Given the description of an element on the screen output the (x, y) to click on. 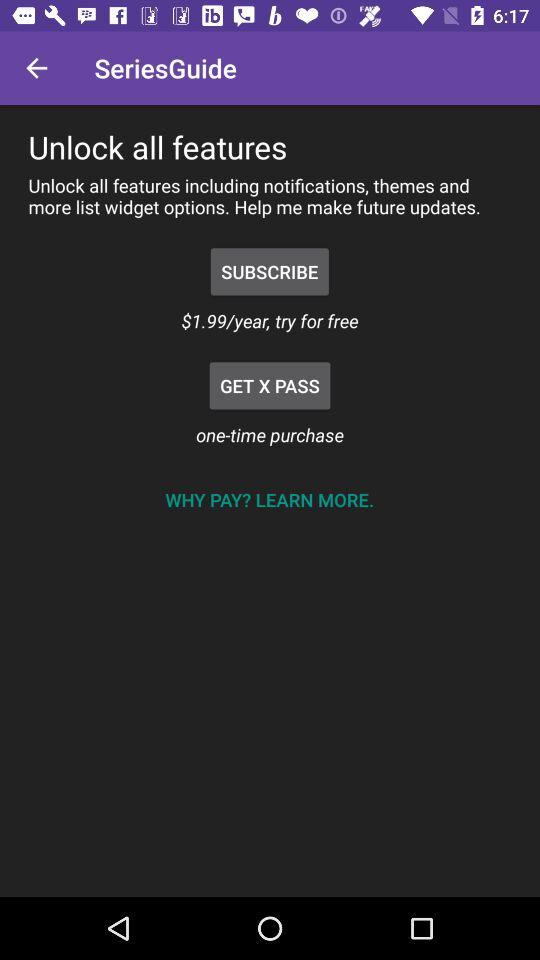
turn off icon to the left of the seriesguide item (36, 68)
